Given the description of an element on the screen output the (x, y) to click on. 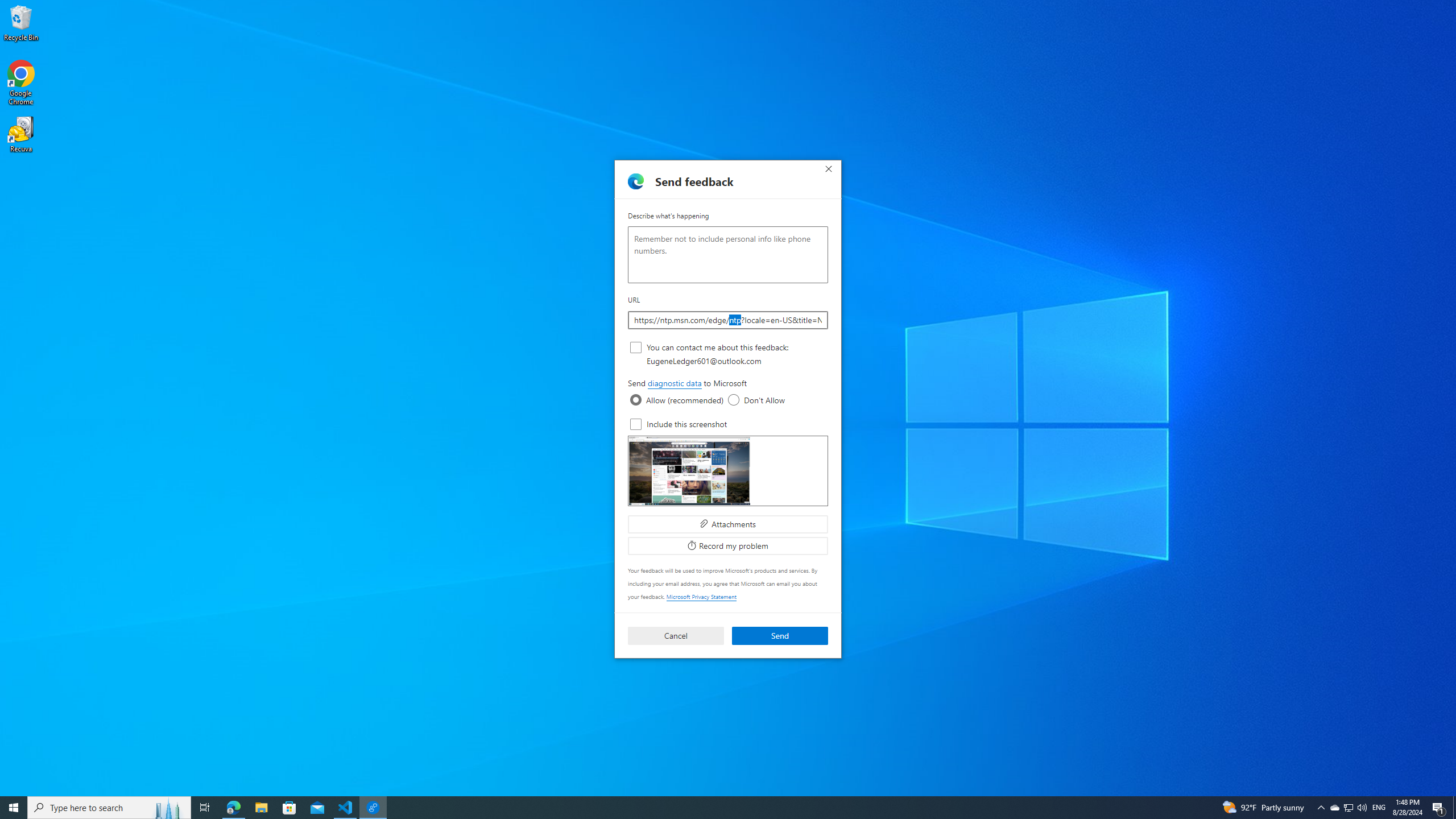
Type here to search (108, 807)
Notification Chevron (1320, 807)
Microsoft Privacy Statement (700, 596)
Microsoft Store (289, 807)
